Given the description of an element on the screen output the (x, y) to click on. 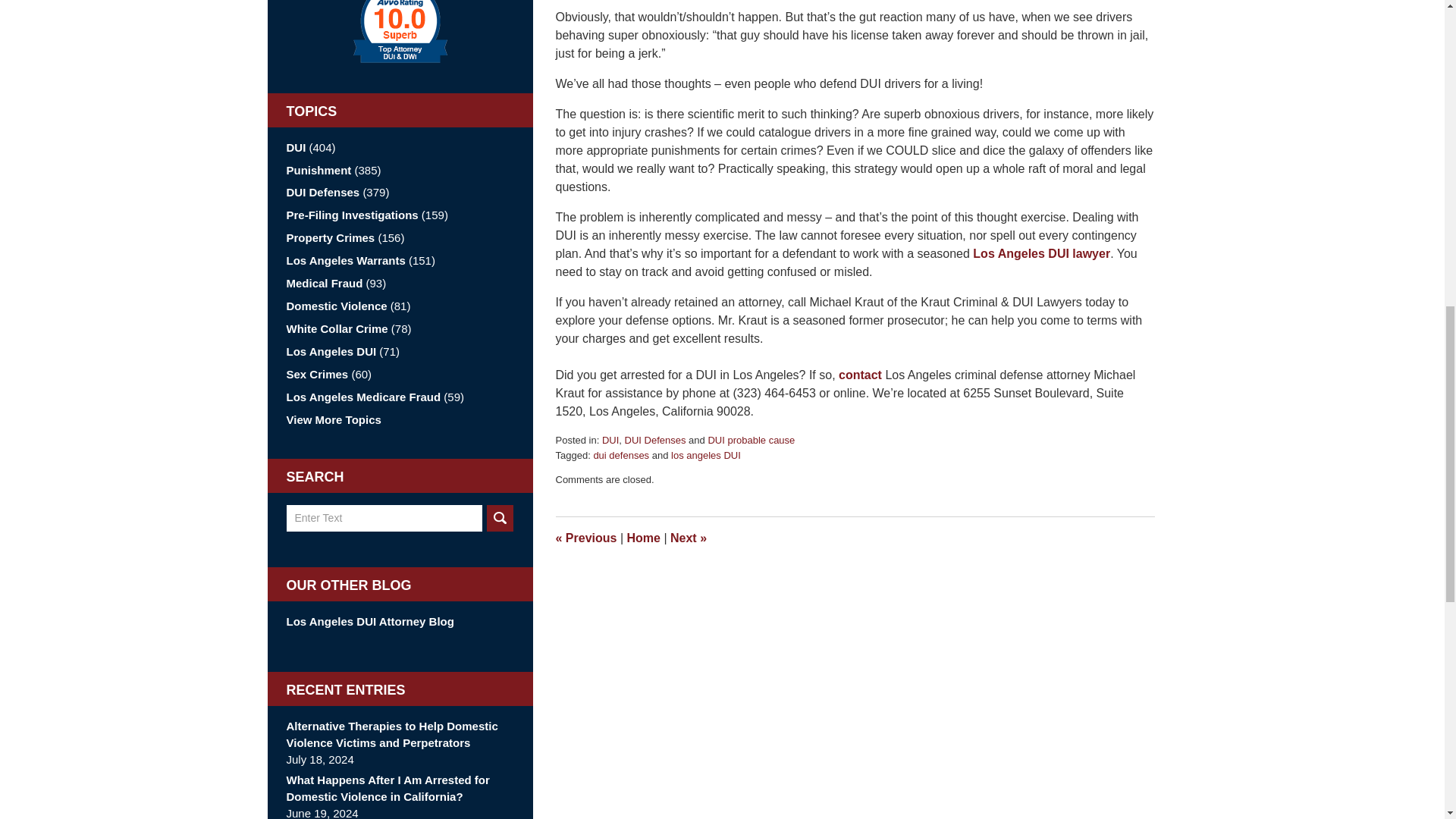
Los Angeles DUI lawyer (1040, 253)
DUI probable cause (750, 439)
Home (642, 537)
dui defenses (620, 455)
DUI Defenses (654, 439)
contact (860, 374)
View all posts in DUI (610, 439)
View all posts tagged with dui defenses (620, 455)
DUI (610, 439)
View all posts tagged with los angeles DUI (706, 455)
los angeles DUI (706, 455)
View all posts in DUI Defenses (654, 439)
View all posts in DUI probable cause (750, 439)
AVVO Rating (399, 31)
